Given the description of an element on the screen output the (x, y) to click on. 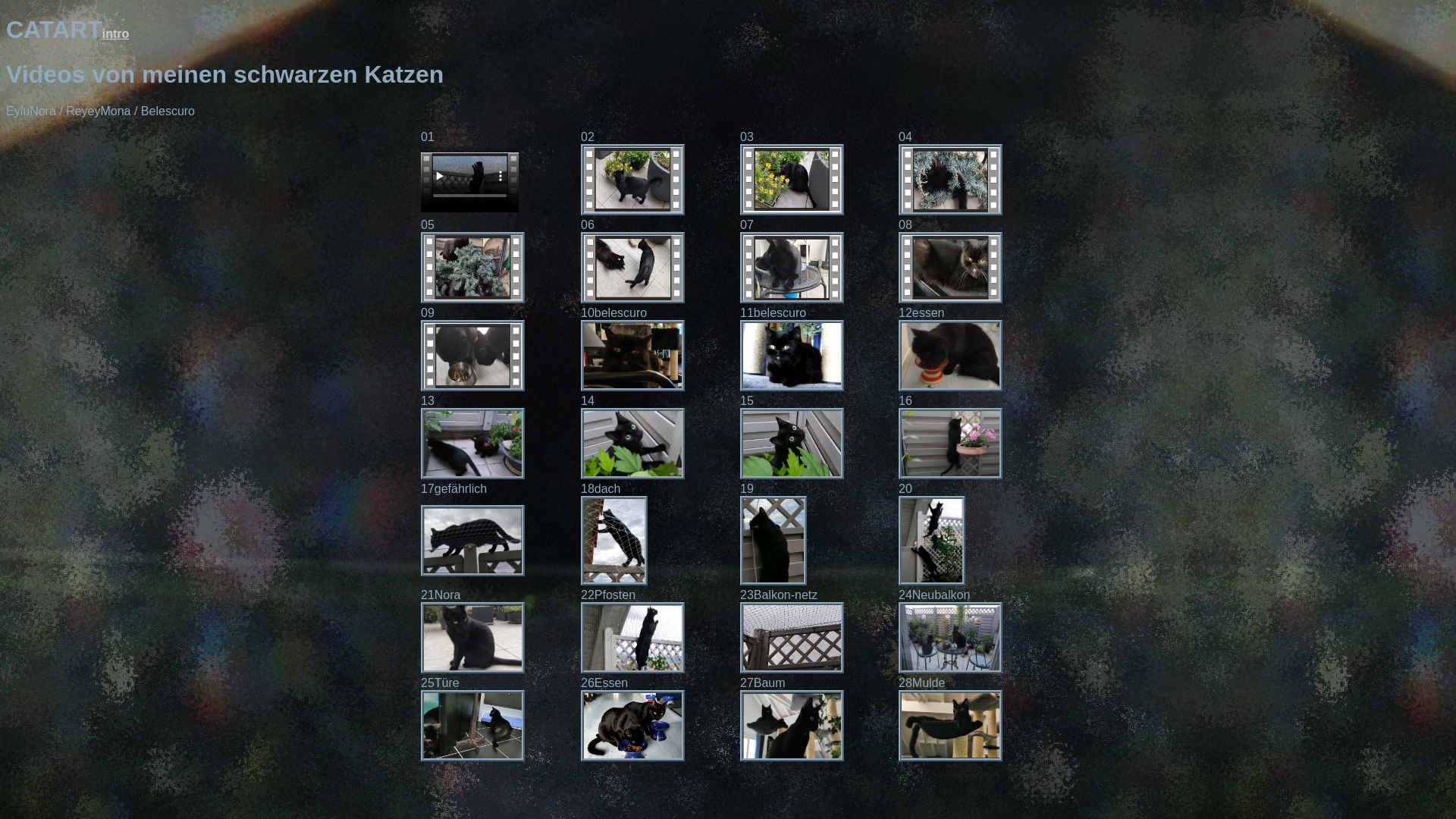
intro Element type: text (115, 33)
